Given the description of an element on the screen output the (x, y) to click on. 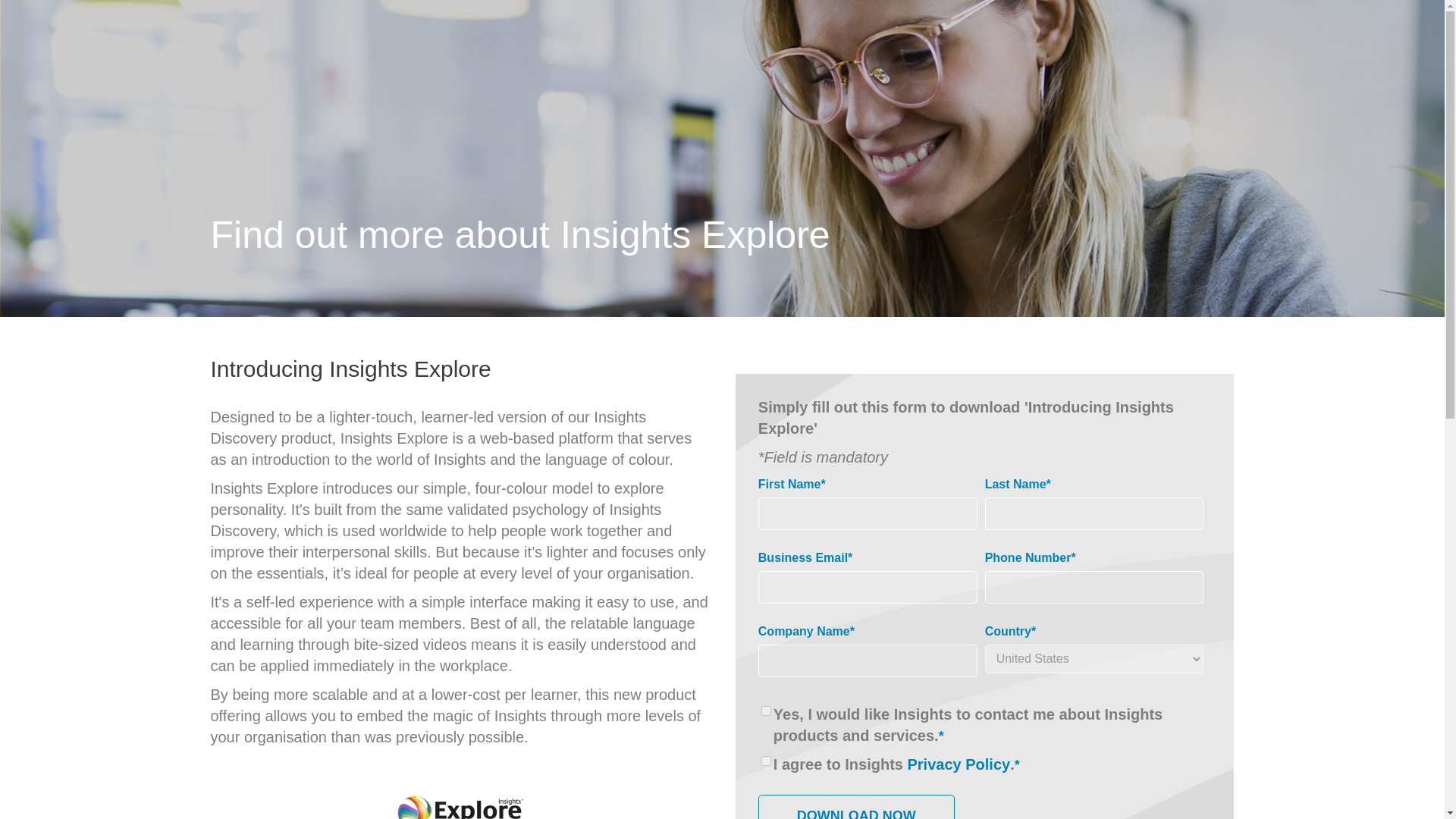
Privacy Policy (958, 764)
true (766, 710)
true (766, 760)
DOWNLOAD NOW (856, 806)
DOWNLOAD NOW (856, 806)
Insights-Explore-Logo-temp (459, 787)
